Given the description of an element on the screen output the (x, y) to click on. 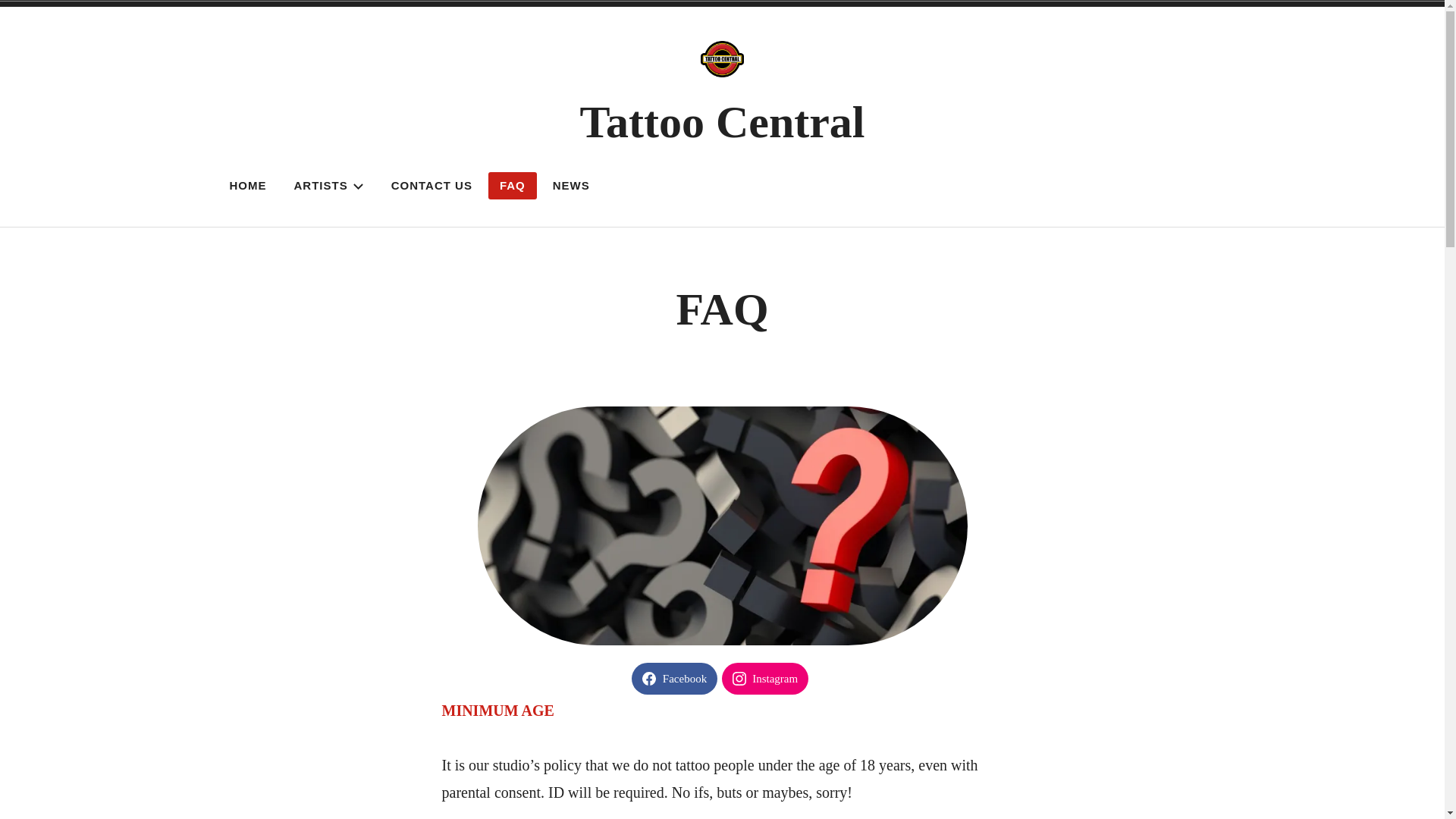
HOME Element type: text (248, 185)
NEWS Element type: text (571, 185)
ARTISTS Element type: text (328, 185)
Tattoo Central Element type: text (721, 122)
CONTACT US Element type: text (431, 185)
Facebook Element type: text (674, 678)
FAQ Element type: text (512, 185)
Instagram Element type: text (764, 678)
